Given the description of an element on the screen output the (x, y) to click on. 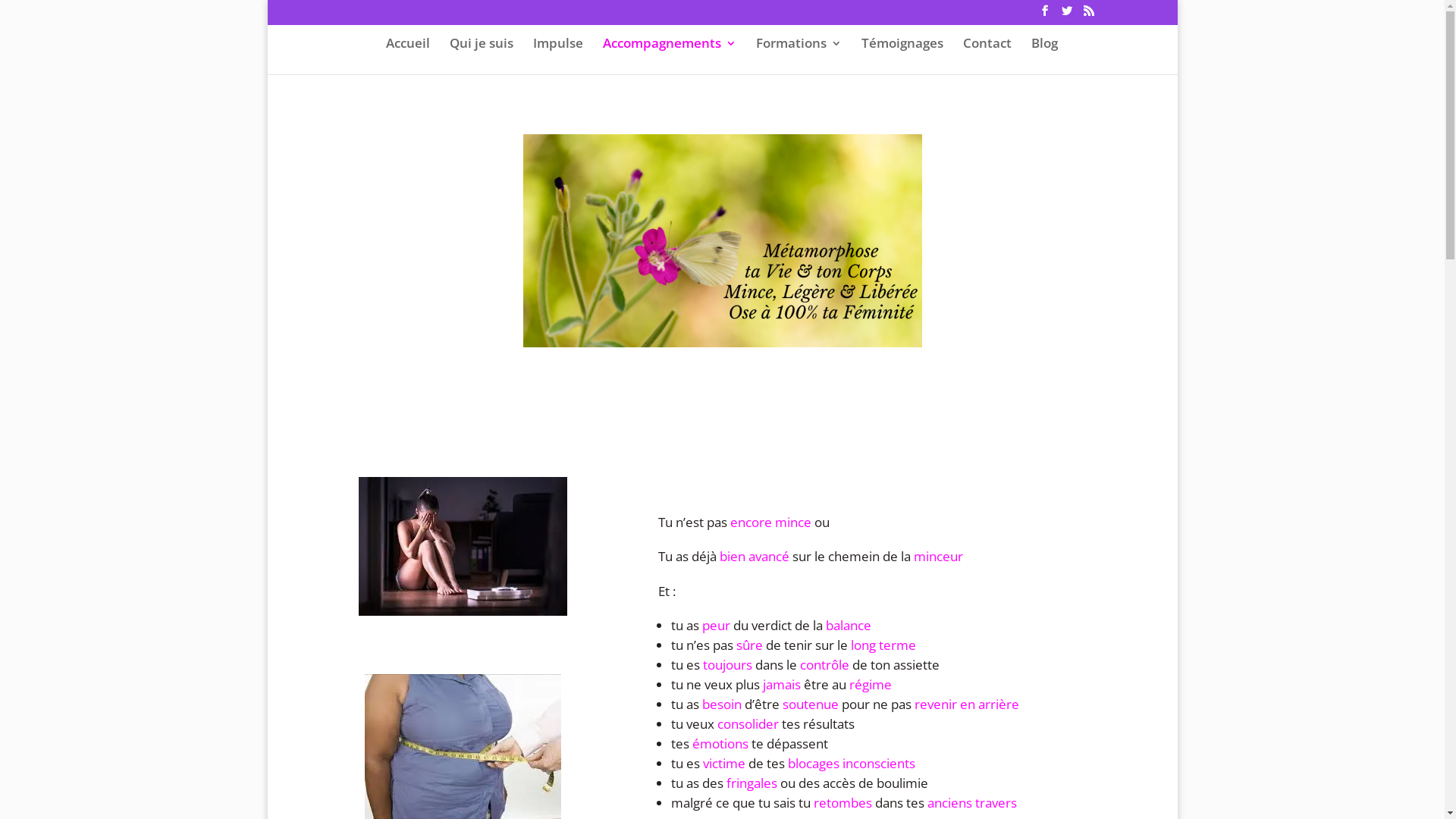
Qui je suis Element type: text (480, 55)
Impulse Element type: text (557, 55)
Blog Element type: text (1044, 55)
Formations Element type: text (797, 55)
Accompagnements Element type: text (668, 55)
Accueil Element type: text (407, 55)
Contact Element type: text (987, 55)
